Given the description of an element on the screen output the (x, y) to click on. 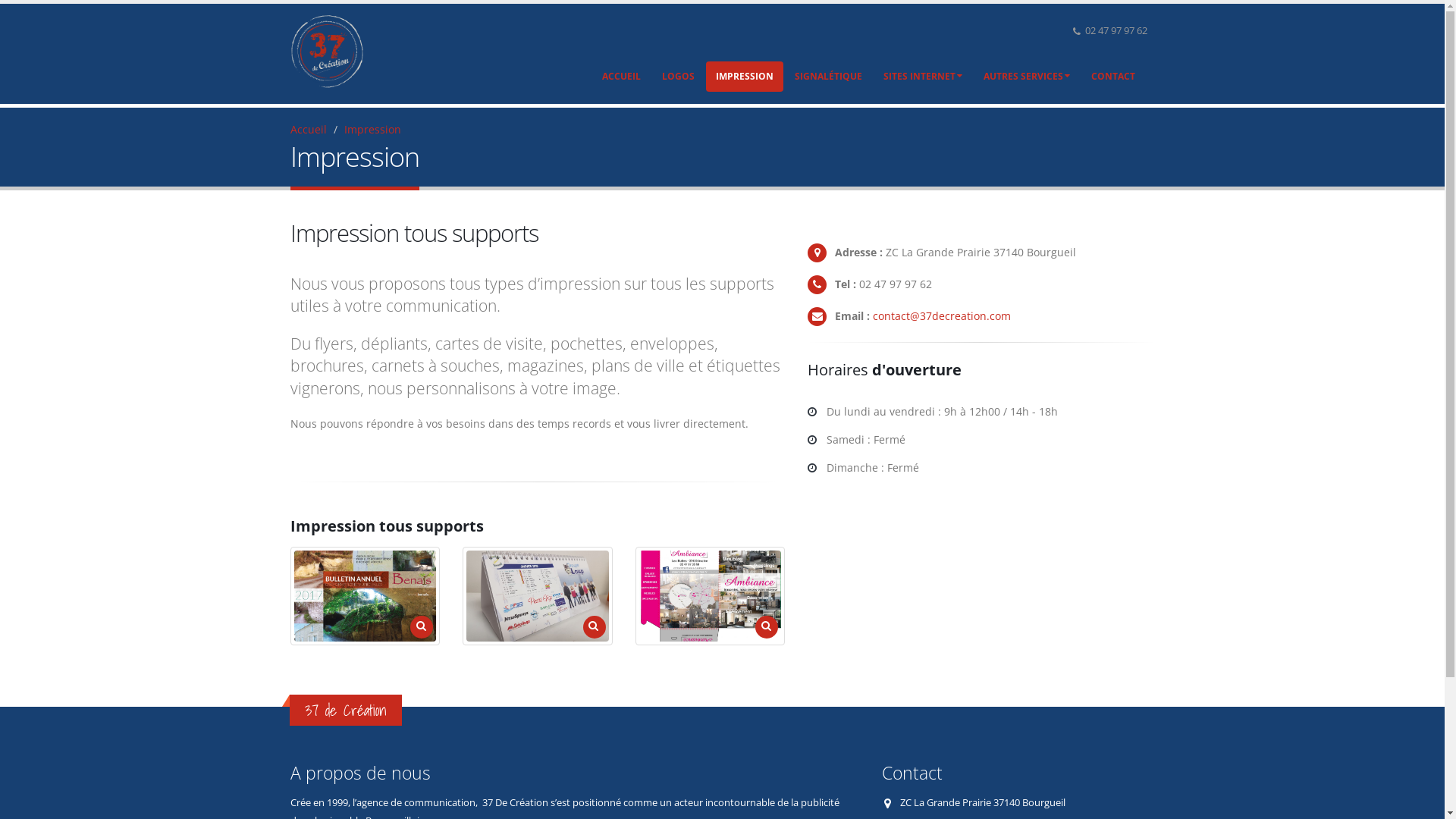
contact@37decreation.com Element type: text (941, 315)
AUTRES SERVICES Element type: text (1026, 76)
Accueil Element type: text (307, 129)
CONTACT Element type: text (1113, 76)
Impression Element type: text (372, 129)
IMPRESSION Element type: text (743, 76)
ACCUEIL Element type: text (620, 76)
LOGOS Element type: text (678, 76)
SITES INTERNET Element type: text (922, 76)
